Given the description of an element on the screen output the (x, y) to click on. 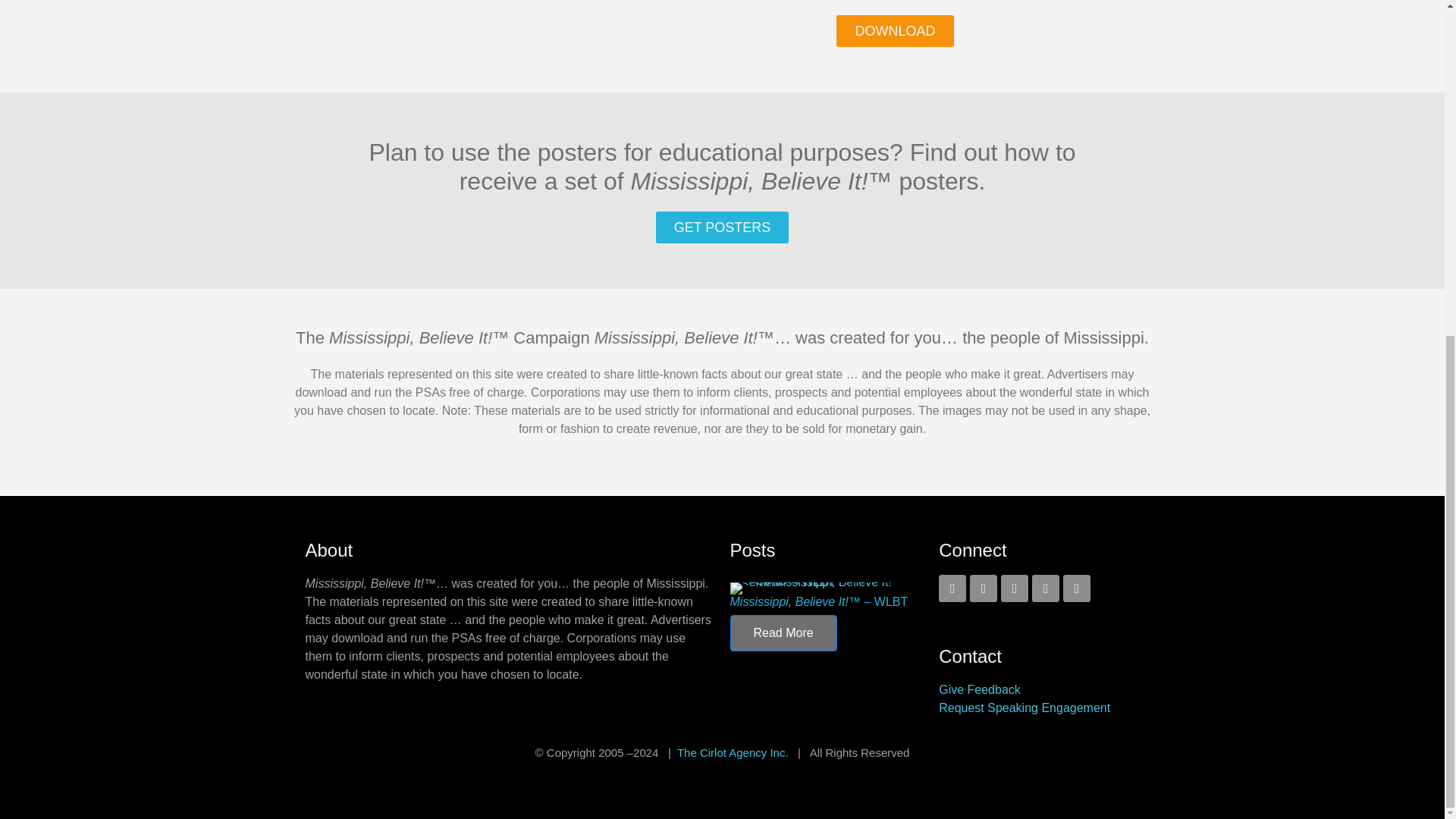
Read More (782, 633)
GET POSTERS (722, 227)
DOWNLOAD (894, 30)
